Given the description of an element on the screen output the (x, y) to click on. 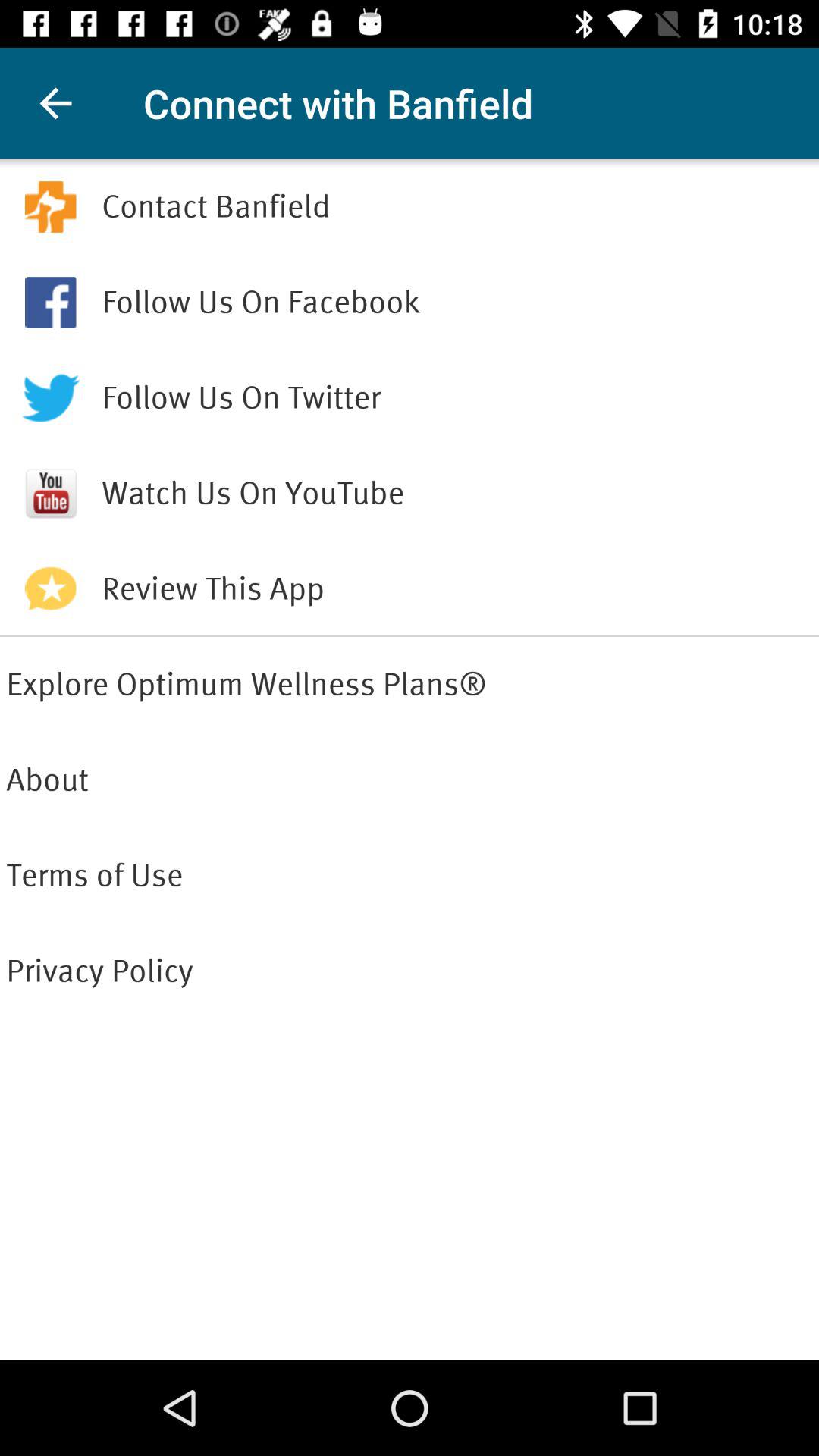
swipe until the contact banfield (457, 206)
